Given the description of an element on the screen output the (x, y) to click on. 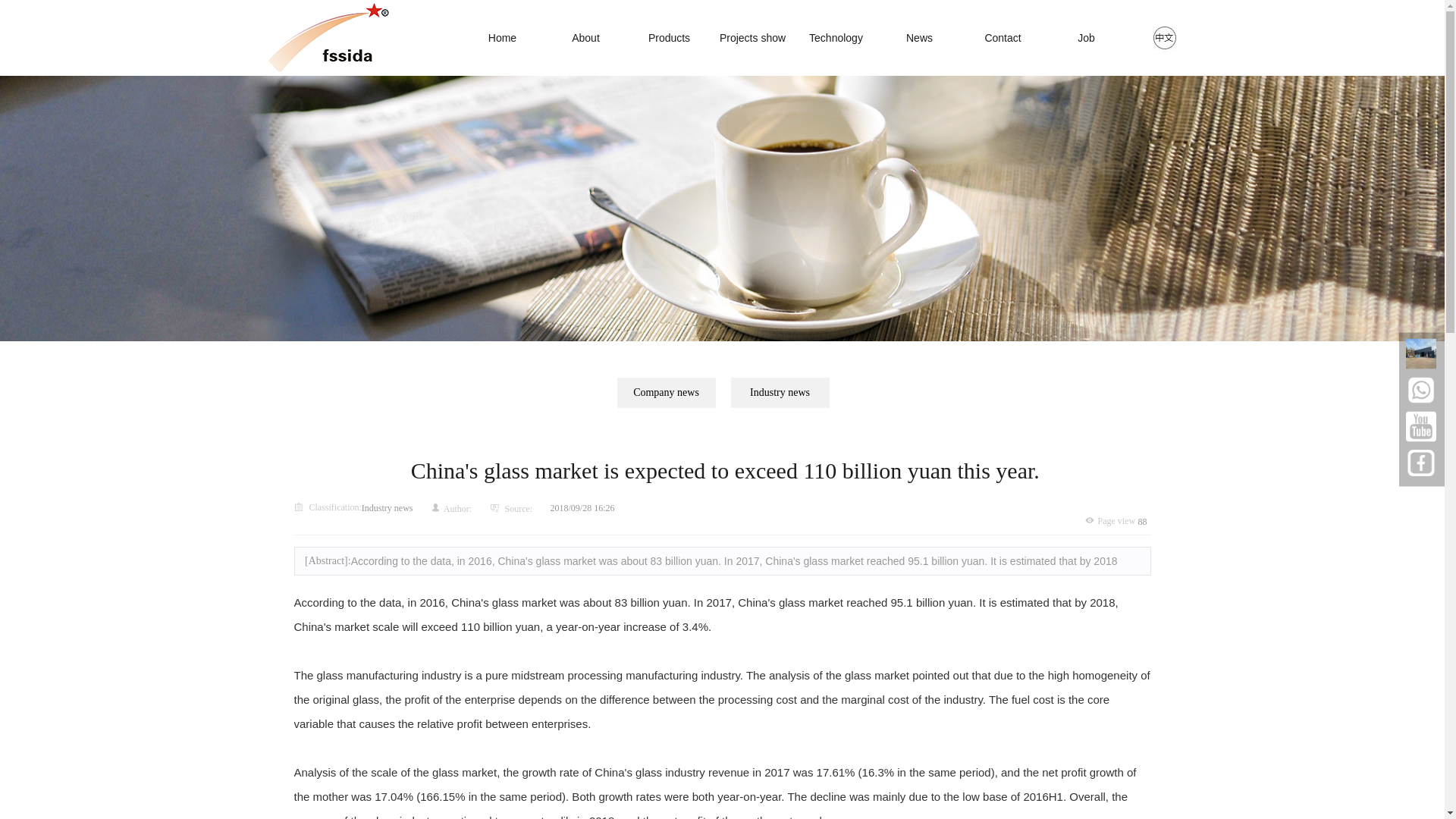
News (918, 37)
Projects show (752, 37)
About (585, 37)
Company news (666, 392)
Home (502, 37)
Job (1086, 37)
Company news (666, 392)
Contact (1002, 37)
Industry news (779, 392)
